Given the description of an element on the screen output the (x, y) to click on. 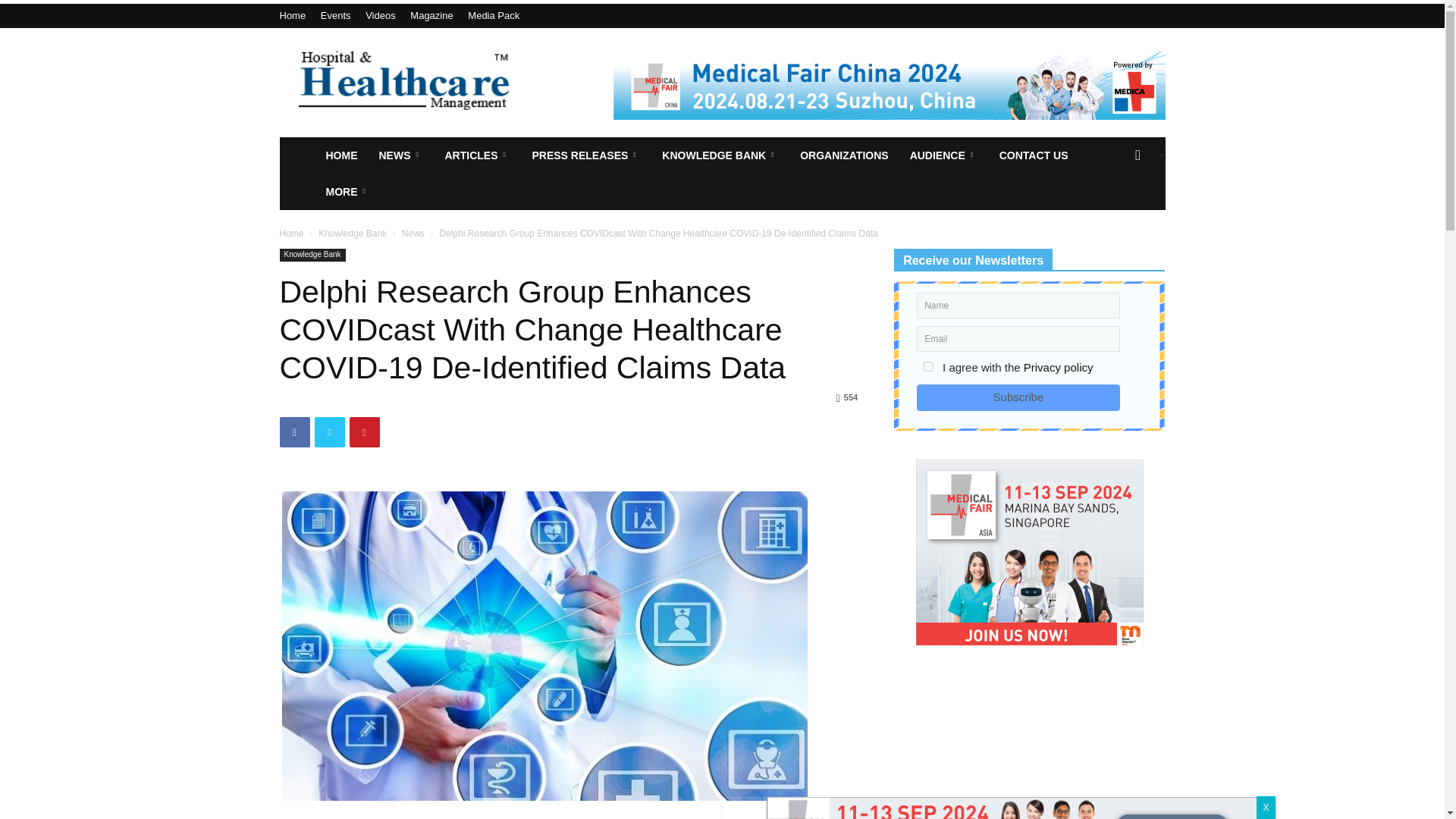
Media Pack (493, 15)
on (928, 366)
Magazine (431, 15)
Home (292, 15)
NEWS (400, 155)
Videos (380, 15)
HOME (341, 155)
Events (335, 15)
Subscribe (1018, 397)
